Given the description of an element on the screen output the (x, y) to click on. 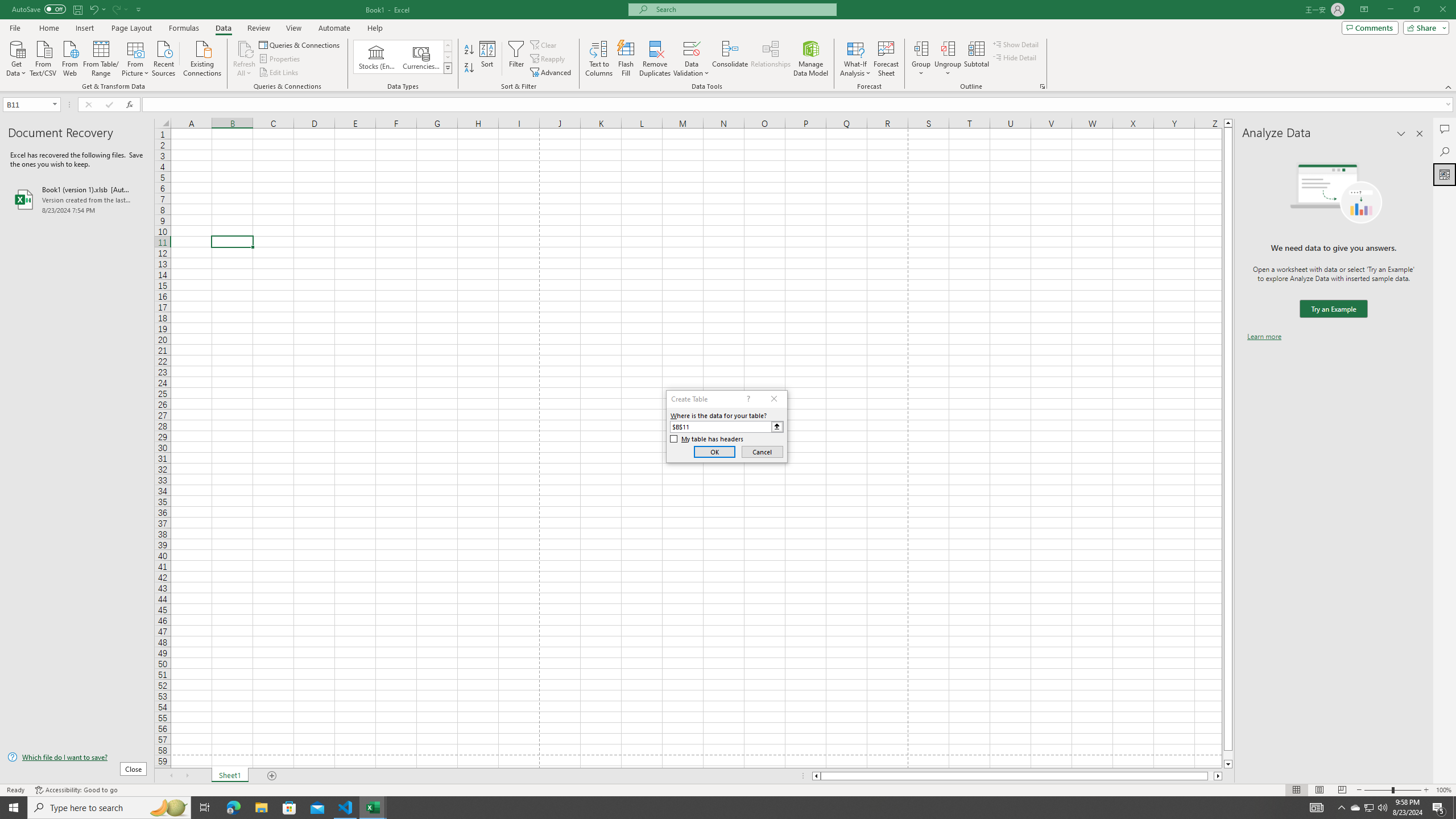
Search (1444, 151)
Hide Detail (1014, 56)
From Table/Range (100, 57)
Formula Bar (799, 104)
Row Down (448, 56)
Stocks (English) (375, 56)
Properties (280, 58)
Row up (448, 45)
Flash Fill (625, 58)
